Given the description of an element on the screen output the (x, y) to click on. 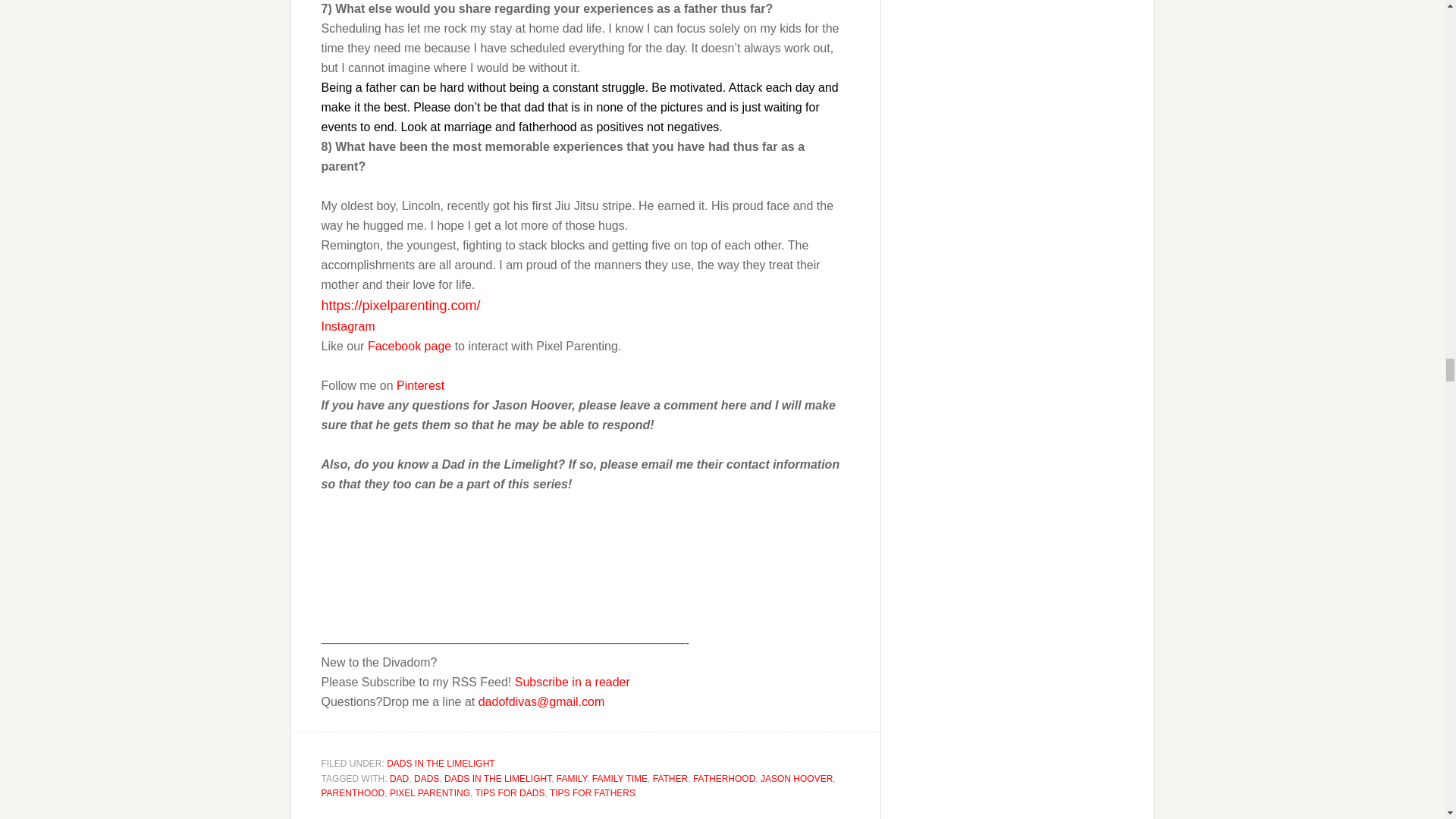
Dad of Divas, dadofdivas.com (367, 541)
